Given the description of an element on the screen output the (x, y) to click on. 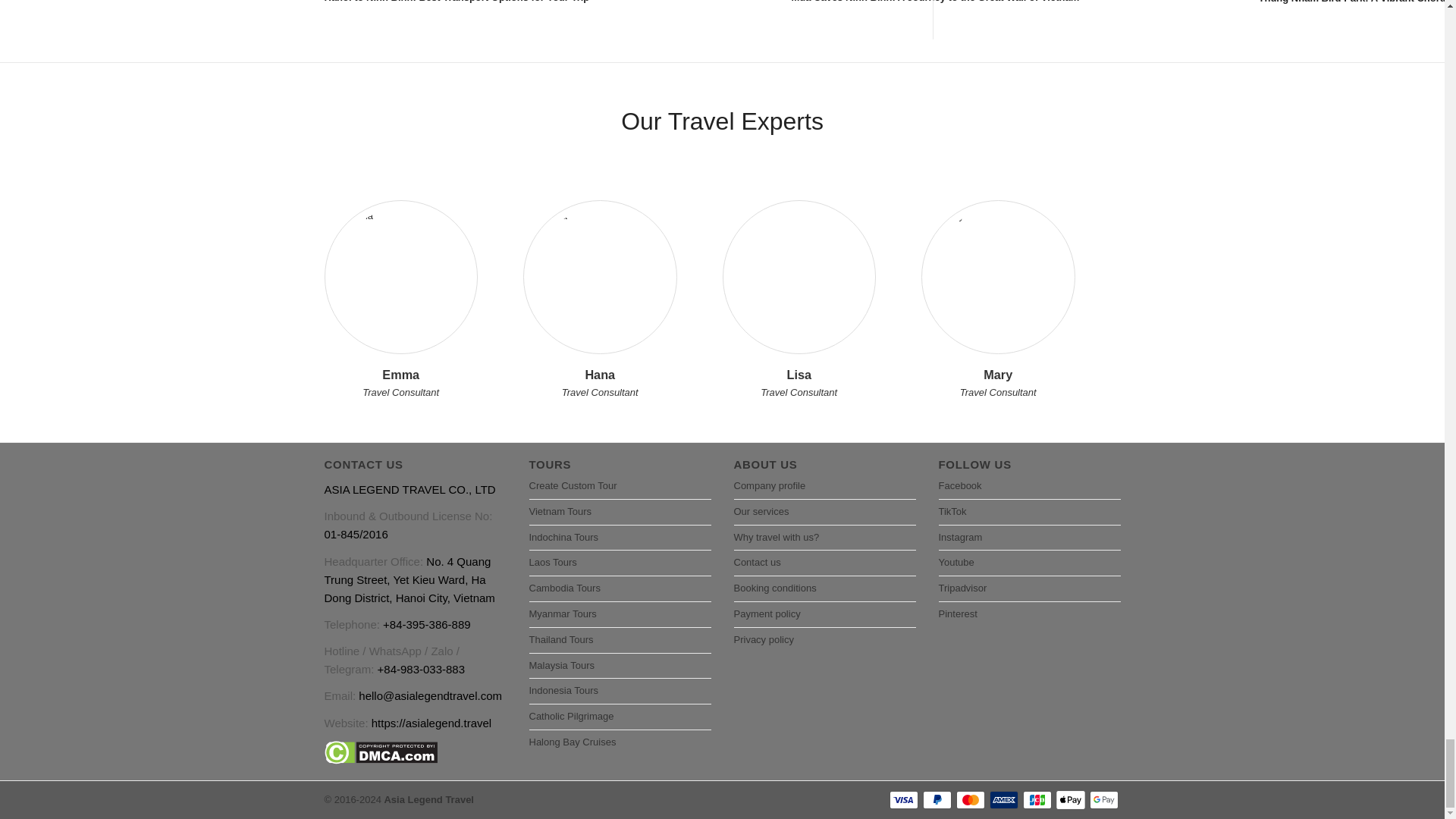
American Express (1002, 800)
Mastercard (969, 800)
Apple Pay (1069, 800)
Visa (902, 800)
Google Pay (1103, 800)
JCB (1036, 800)
PayPal (935, 800)
